Given the description of an element on the screen output the (x, y) to click on. 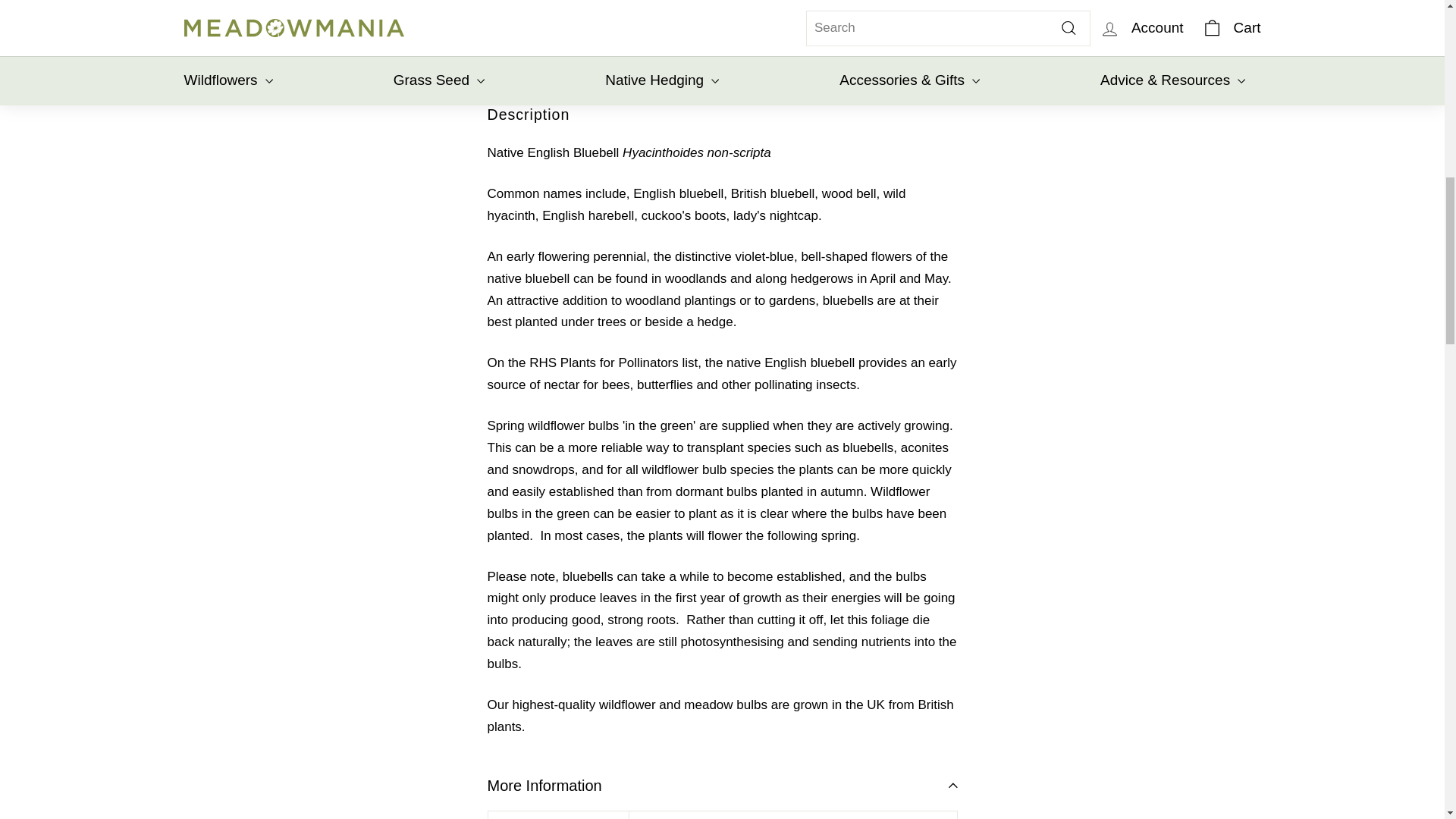
Reviews Widget (1012, 51)
Share on Facebook (794, 6)
Tweet on Twitter (868, 6)
twitter (844, 4)
Pin on Pinterest (940, 6)
